Given the description of an element on the screen output the (x, y) to click on. 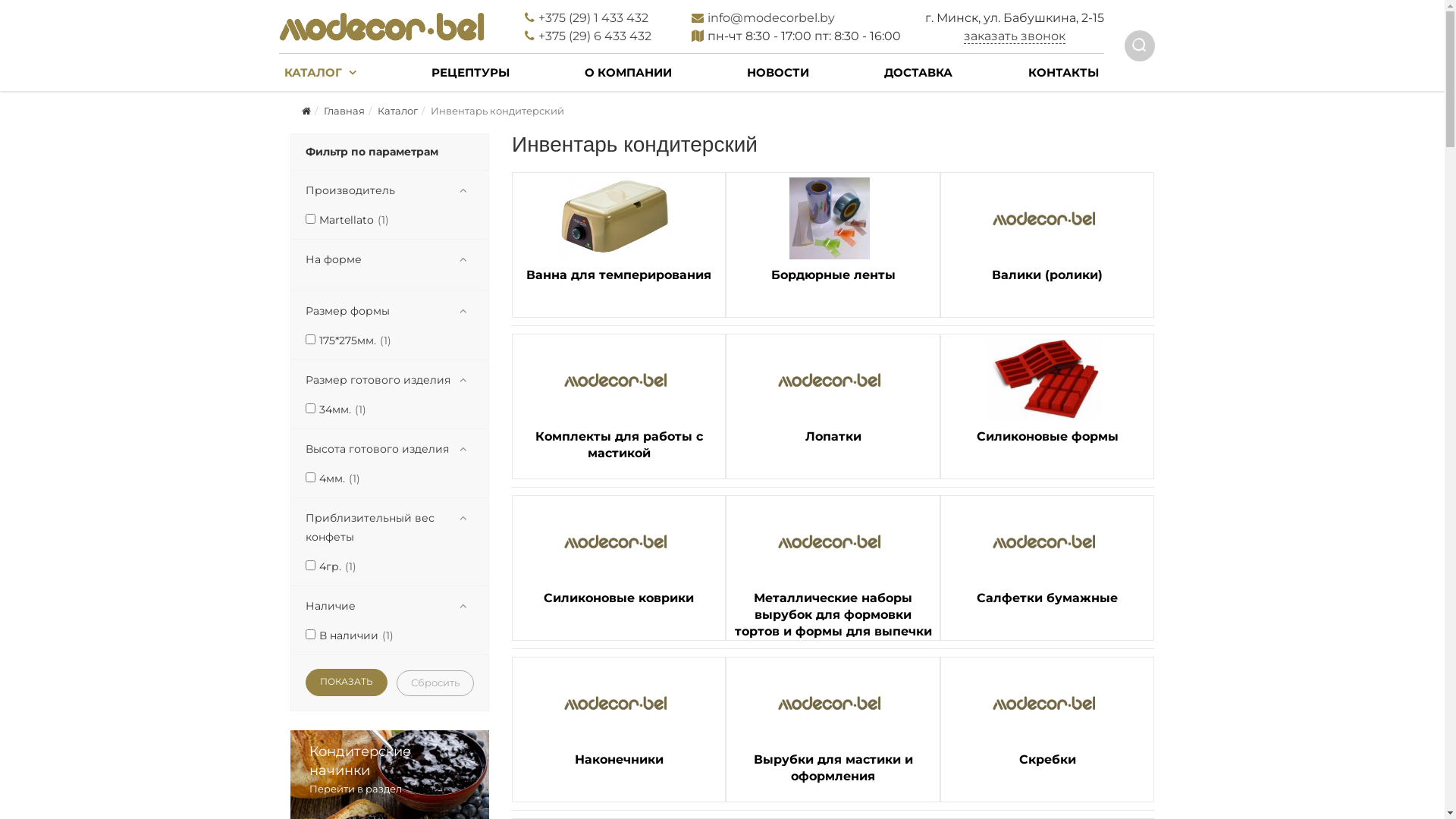
info@modecorbel.by Element type: text (770, 17)
+375 (29) 6 433 432 Element type: text (594, 35)
+375 (29) 1 433 432 Element type: text (593, 17)
